Given the description of an element on the screen output the (x, y) to click on. 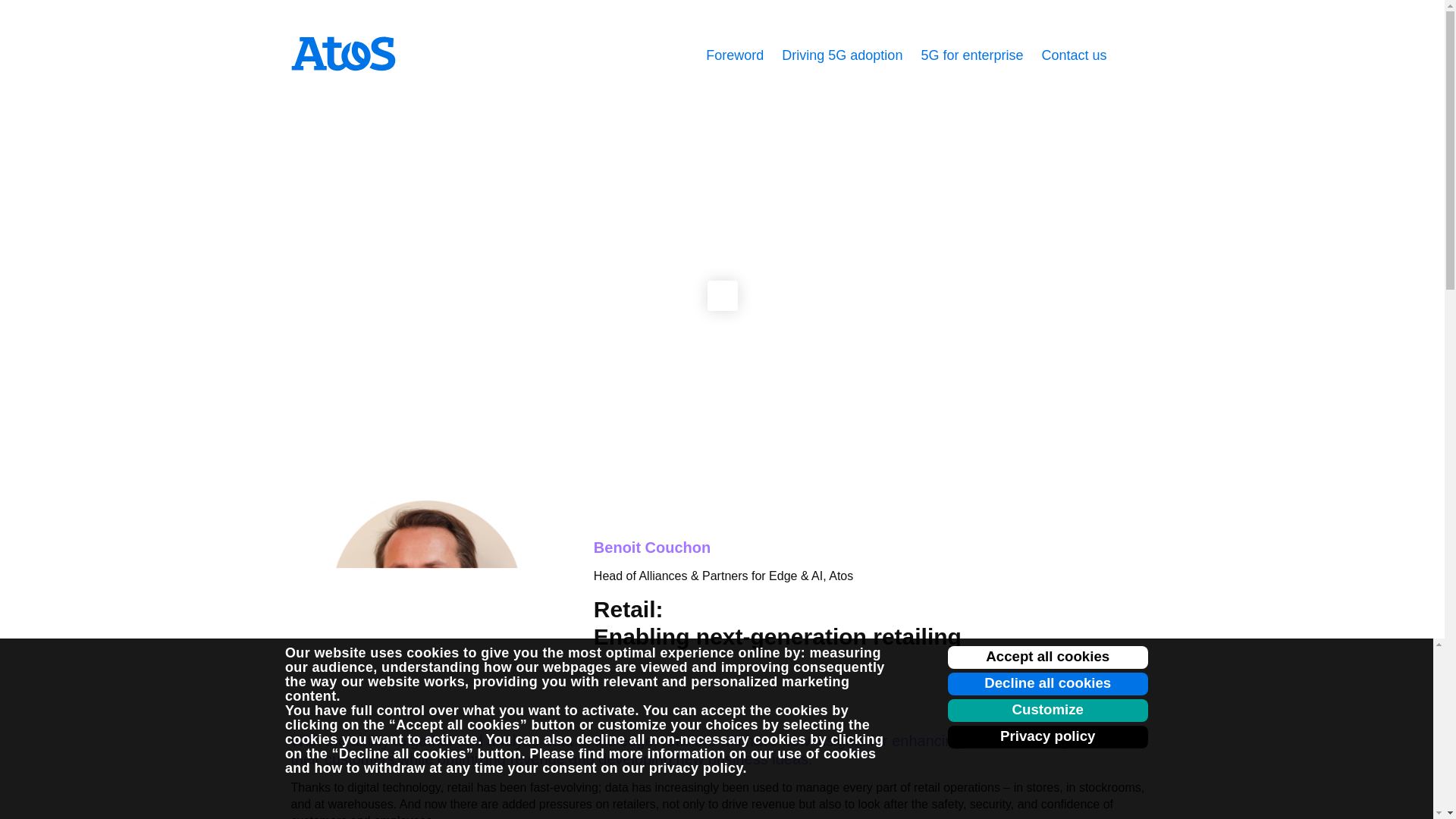
5G for enterprise (971, 55)
cookies (433, 652)
Accept all cookies (1047, 657)
Contact us (1073, 55)
Decline all cookies (1047, 683)
privacy policy (695, 767)
Customize (1047, 710)
Privacy policy (1047, 736)
Driving 5G adoption (841, 55)
Atos Group homepage (343, 53)
